Given the description of an element on the screen output the (x, y) to click on. 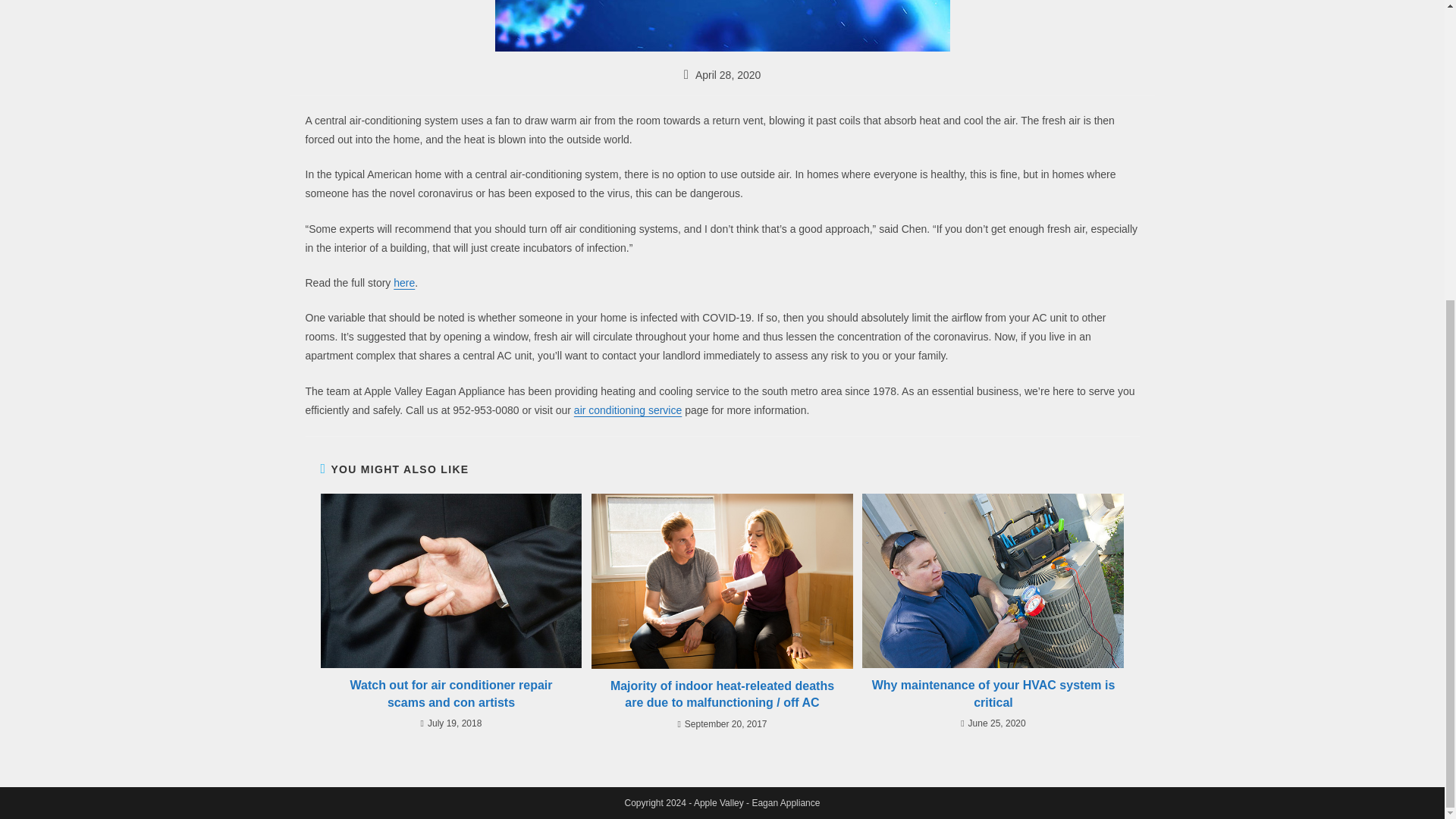
here (403, 282)
Watch out for air conditioner repair scams and con artists (450, 694)
Why maintenance of your HVAC system is critical (992, 694)
air conditioning service (627, 410)
